Given the description of an element on the screen output the (x, y) to click on. 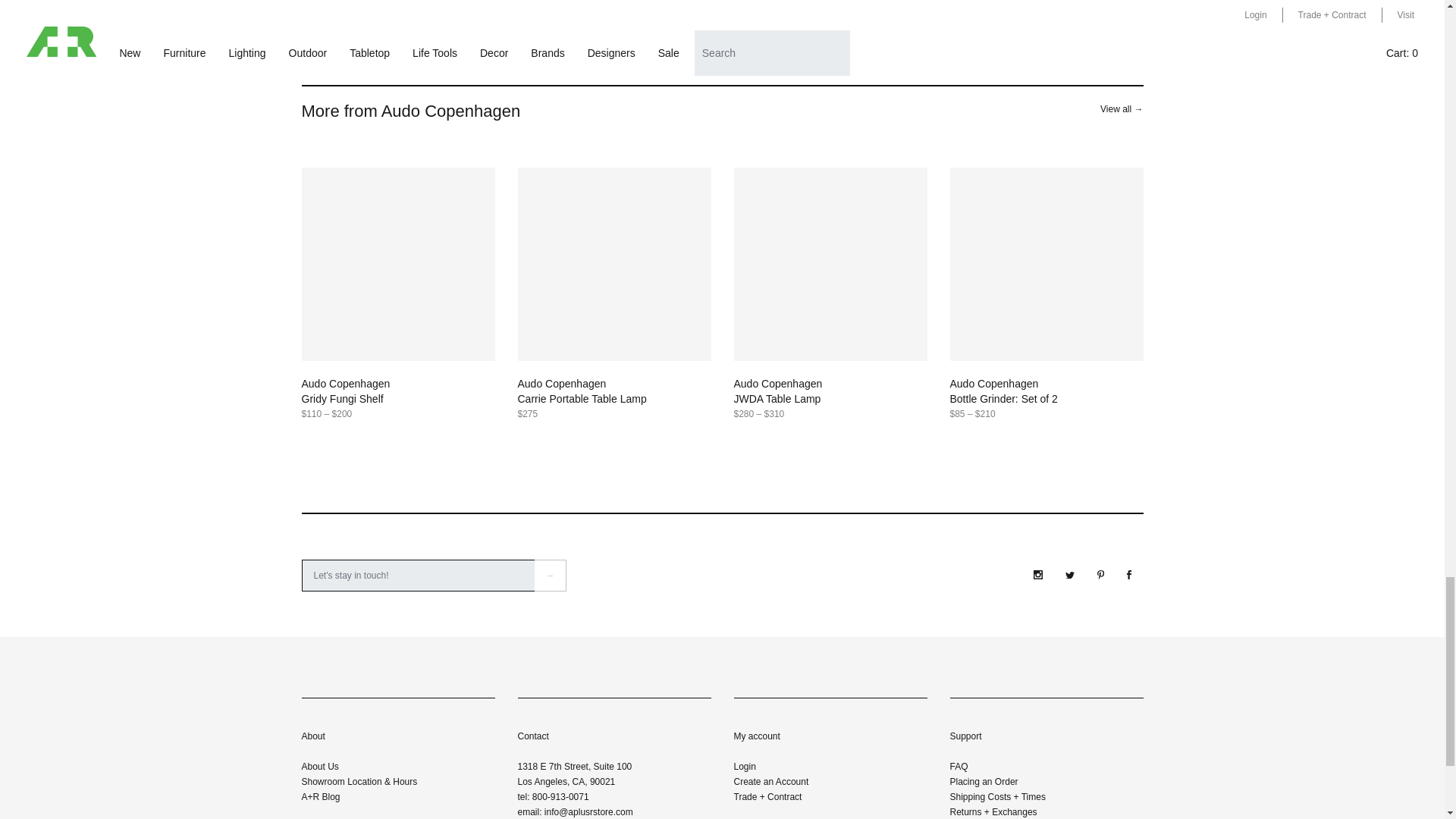
Instagram (1037, 574)
Emai (418, 575)
Pinterest (1100, 574)
Facebook (1128, 574)
Twitter (1069, 575)
